Given the description of an element on the screen output the (x, y) to click on. 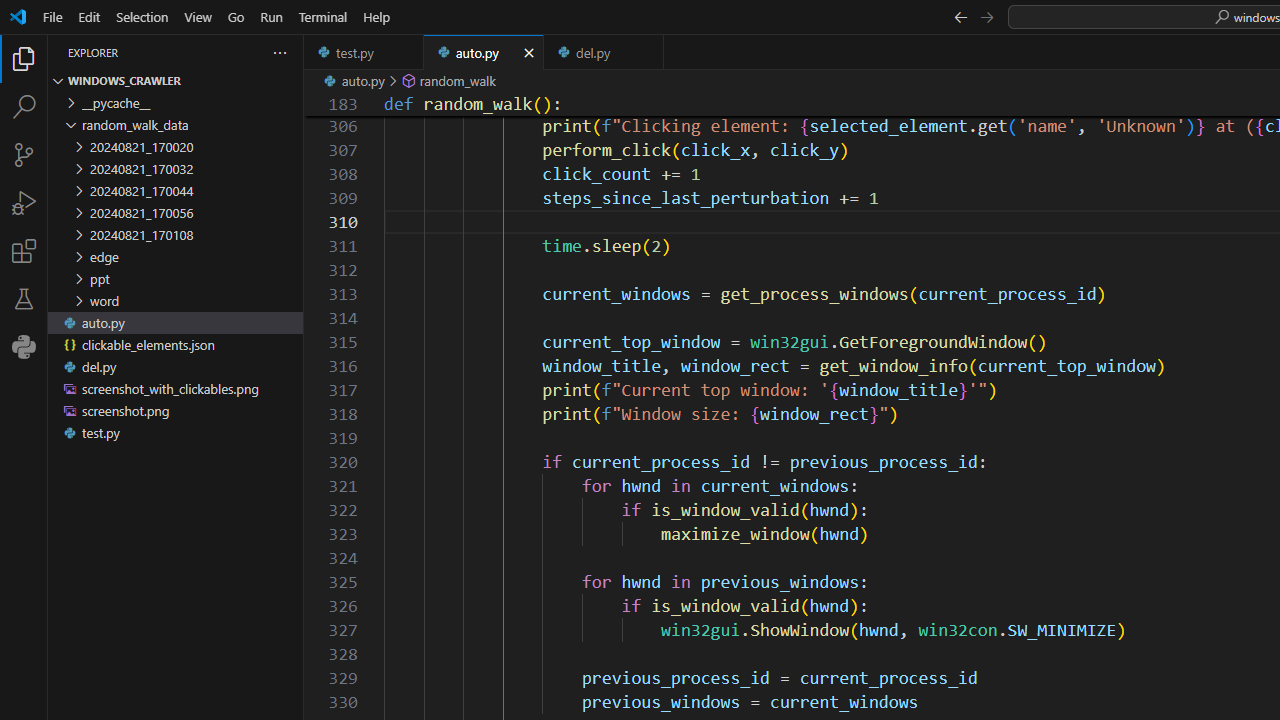
File (52, 16)
Selection (141, 16)
Explorer Section: windows_crawler (175, 80)
Extensions (Ctrl+Shift+X) (24, 250)
Go (235, 16)
Search (Ctrl+Shift+F) (24, 106)
Testing (24, 299)
del.py (604, 52)
test.py (363, 52)
Explorer actions (208, 52)
auto.py (483, 52)
Close (Ctrl+F4) (648, 52)
